Given the description of an element on the screen output the (x, y) to click on. 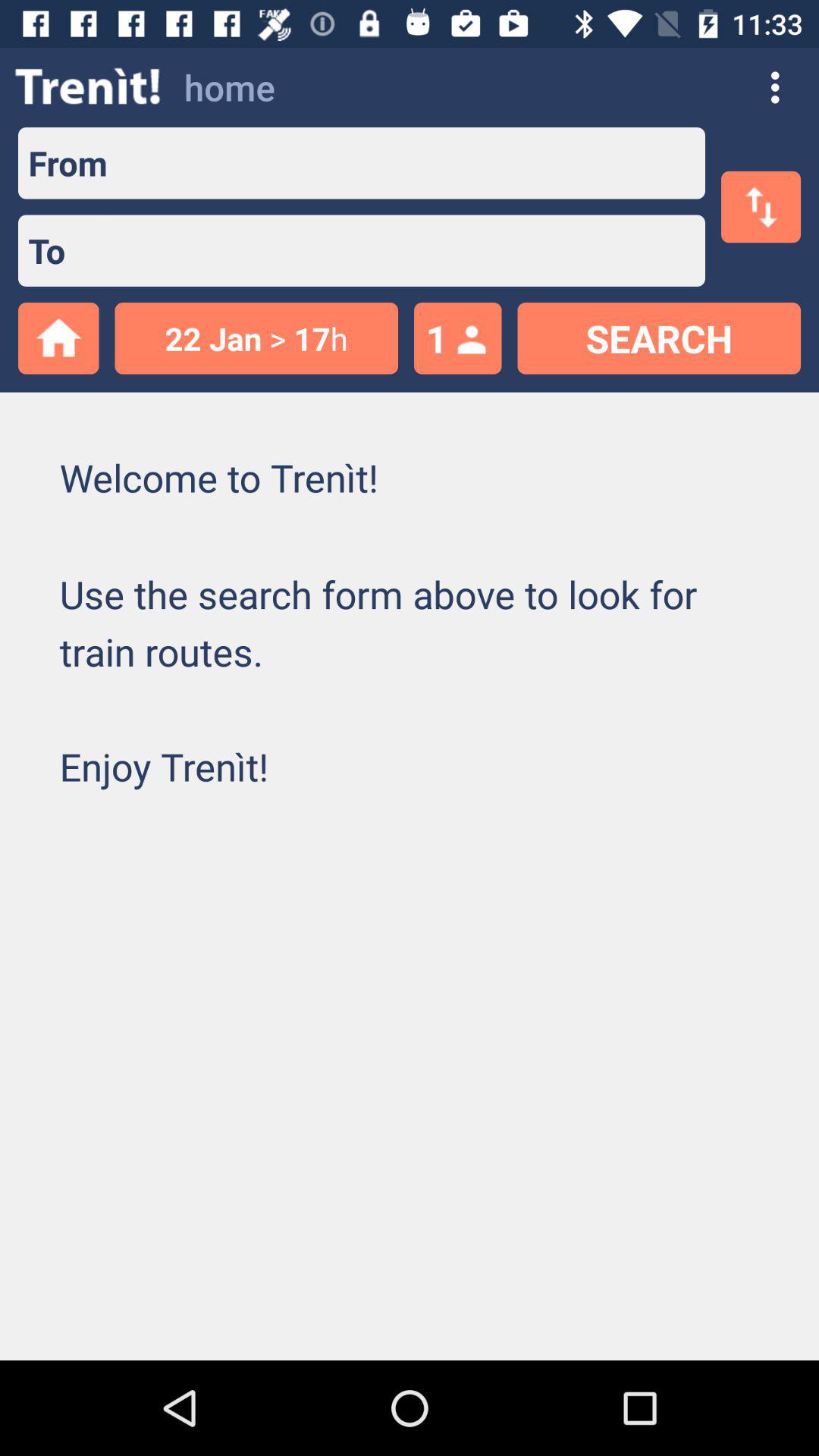
select item to the left of 1 (256, 338)
